Given the description of an element on the screen output the (x, y) to click on. 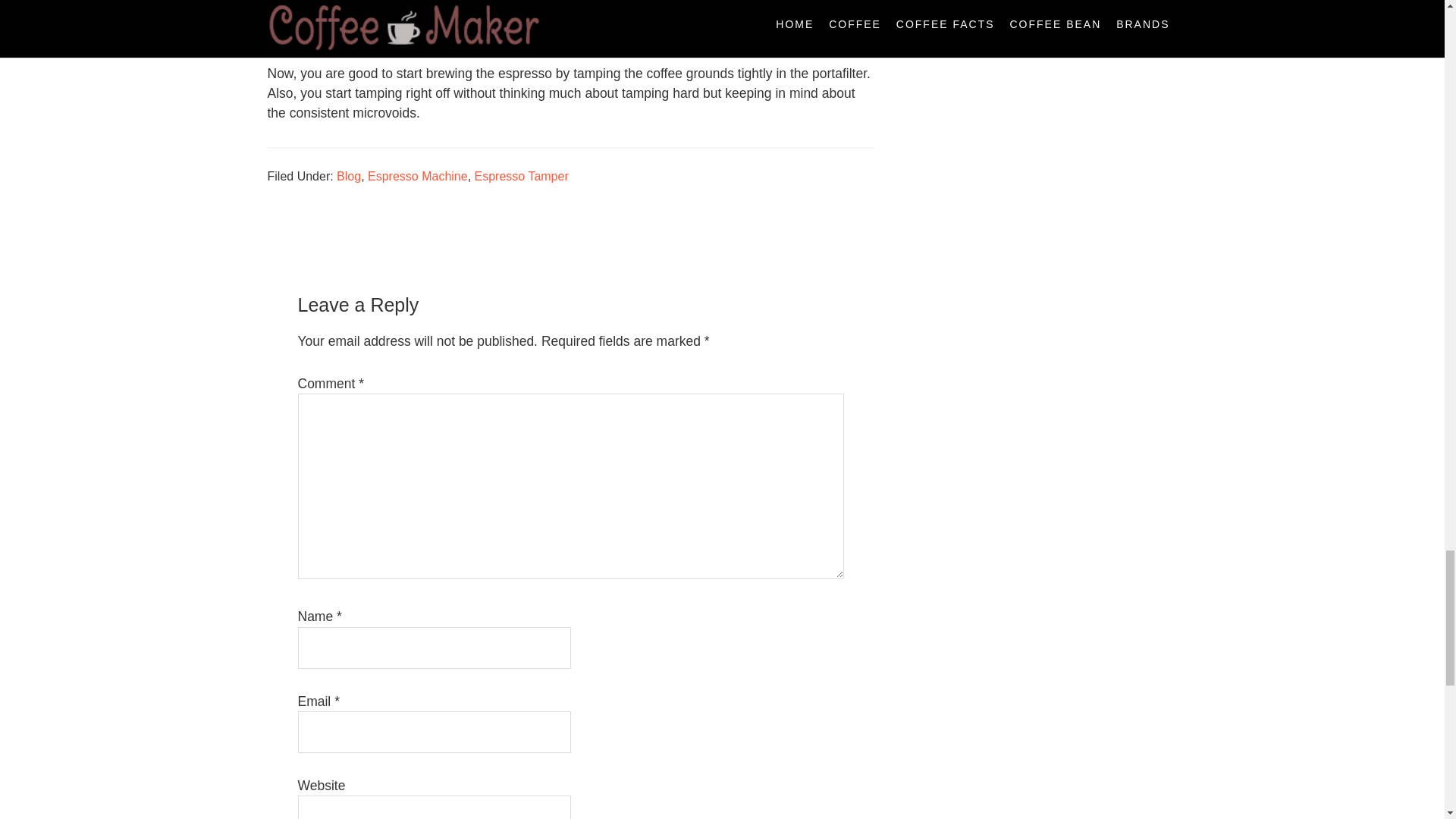
Espresso Tamper (521, 175)
Espresso Machine (417, 175)
Blog (348, 175)
